Given the description of an element on the screen output the (x, y) to click on. 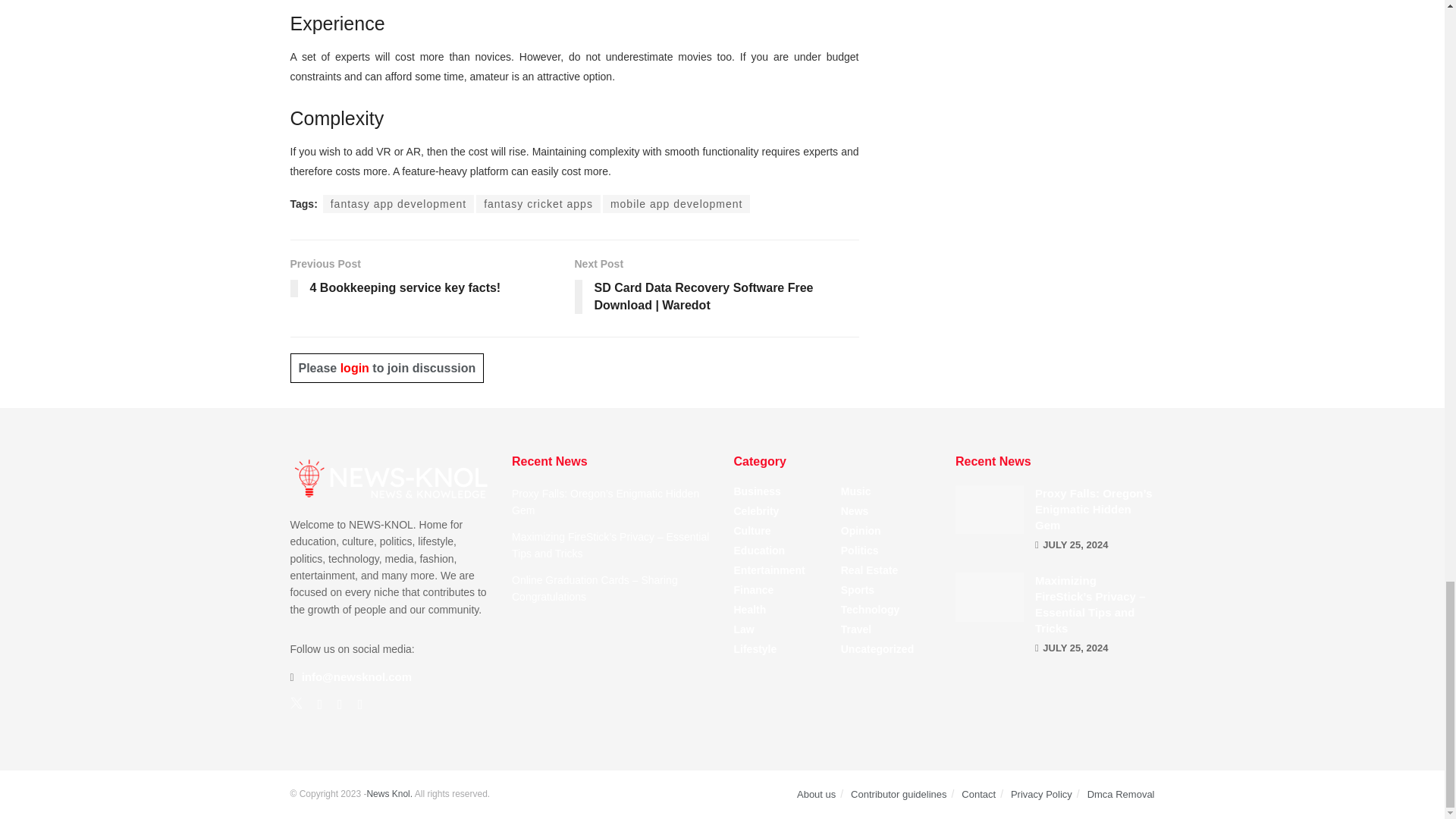
News Knol (389, 793)
